Given the description of an element on the screen output the (x, y) to click on. 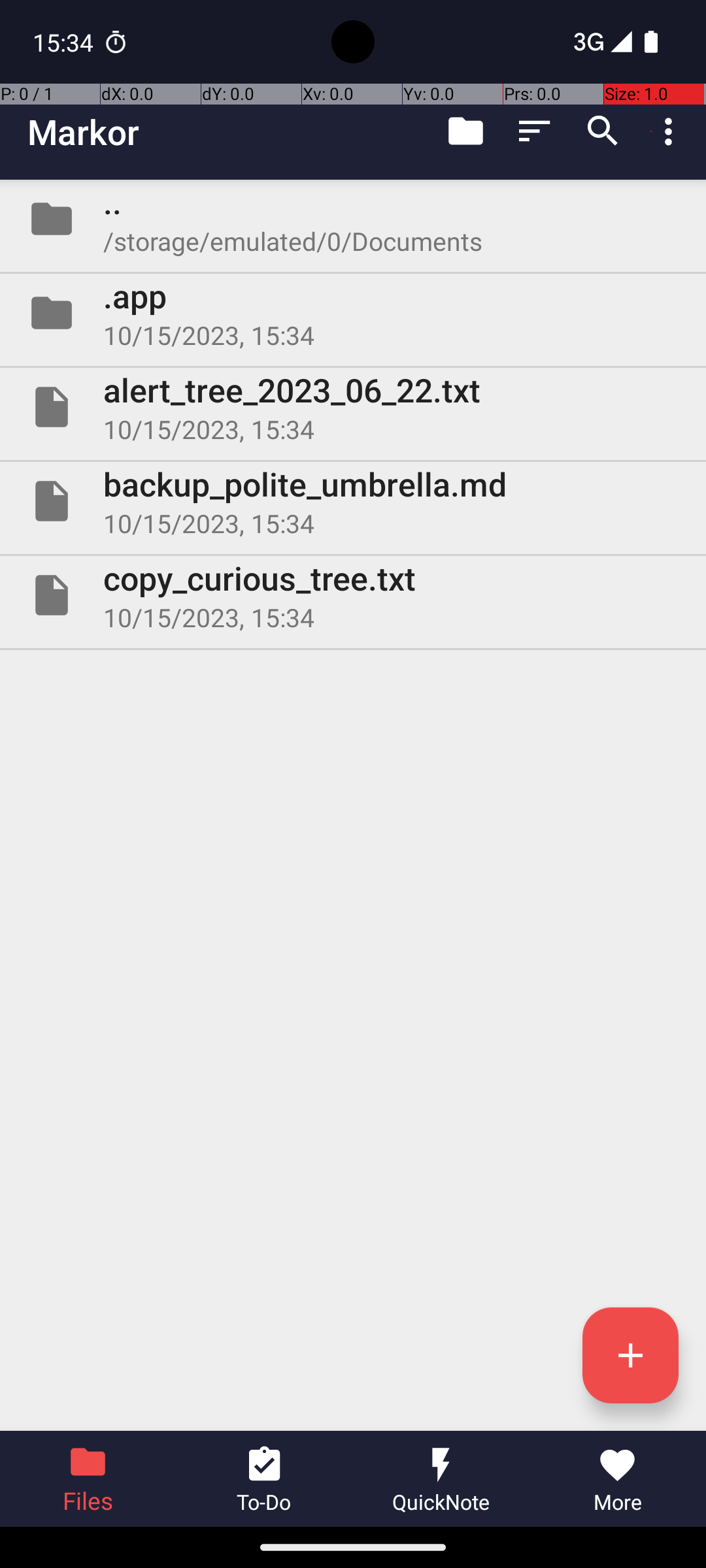
Folder .app 10/15/2023, 15:34 Element type: android.widget.LinearLayout (353, 312)
File alert_tree_2023_06_22.txt 10/15/2023, 15:34 Element type: android.widget.LinearLayout (353, 406)
File backup_polite_umbrella.md 10/15/2023, 15:34 Element type: android.widget.LinearLayout (353, 500)
File copy_curious_tree.txt  Element type: android.widget.LinearLayout (353, 594)
